Given the description of an element on the screen output the (x, y) to click on. 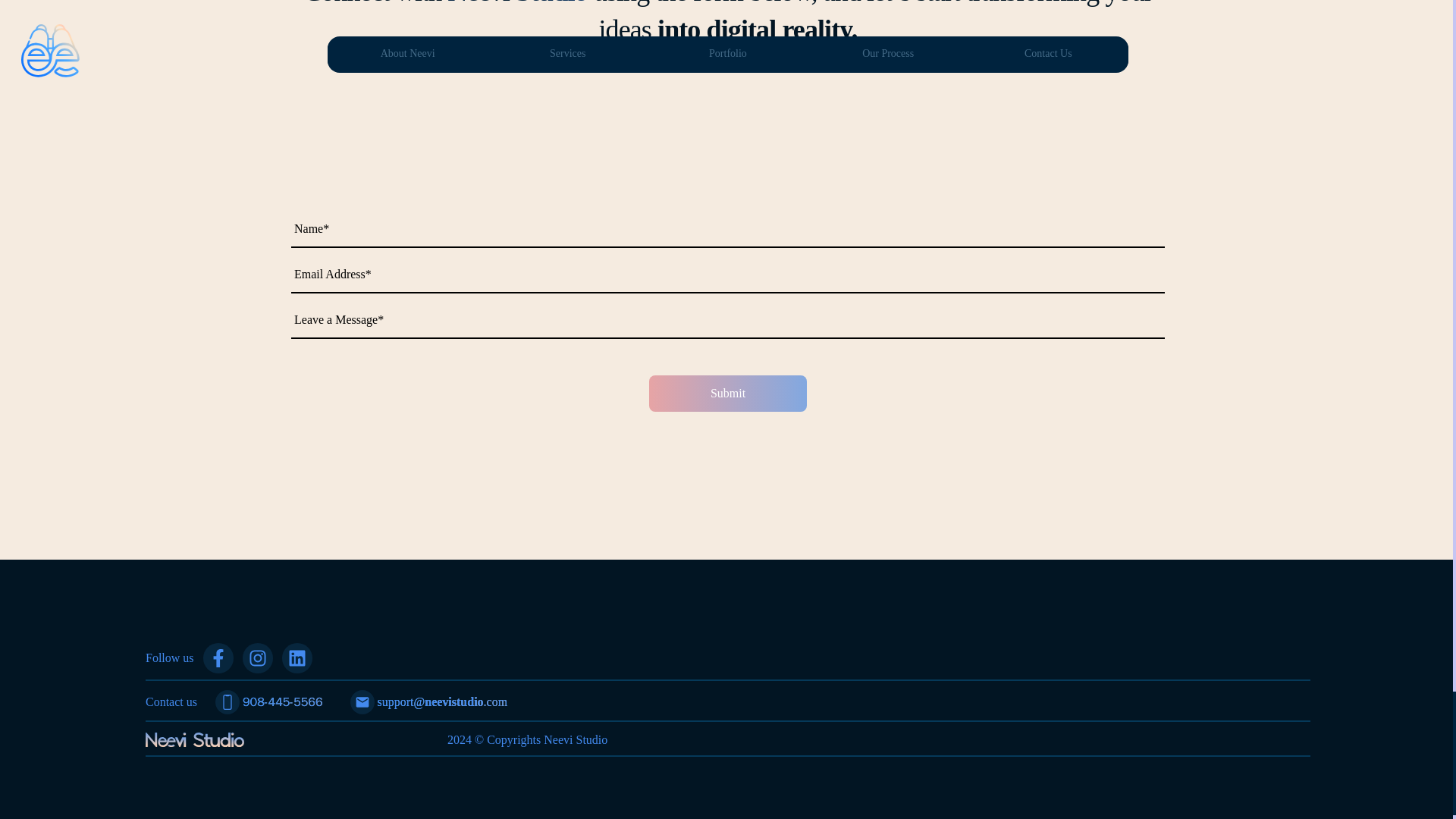
Submit (727, 393)
